Given the description of an element on the screen output the (x, y) to click on. 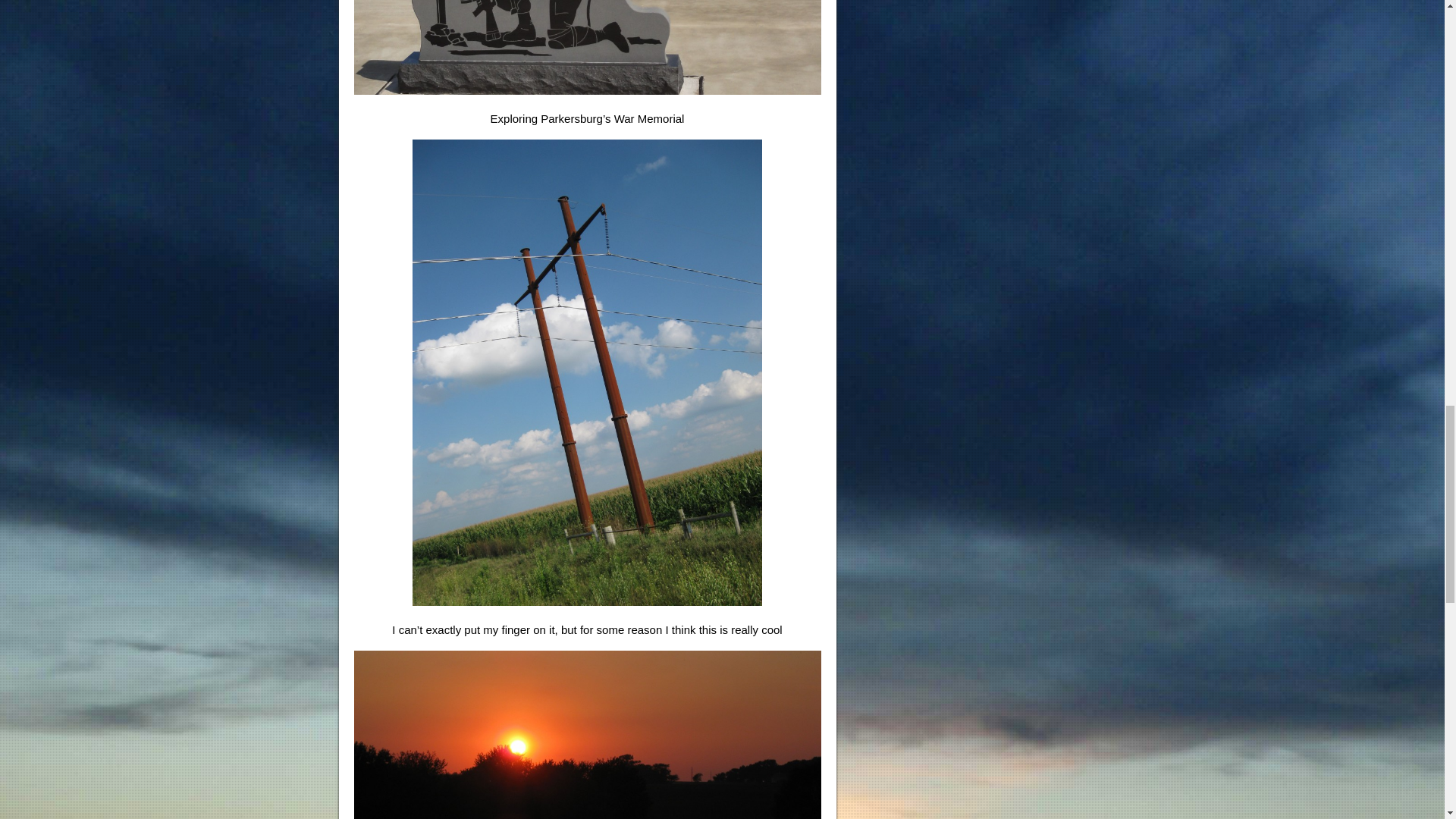
Exploring (587, 47)
Iowan Sunset (587, 734)
